Given the description of an element on the screen output the (x, y) to click on. 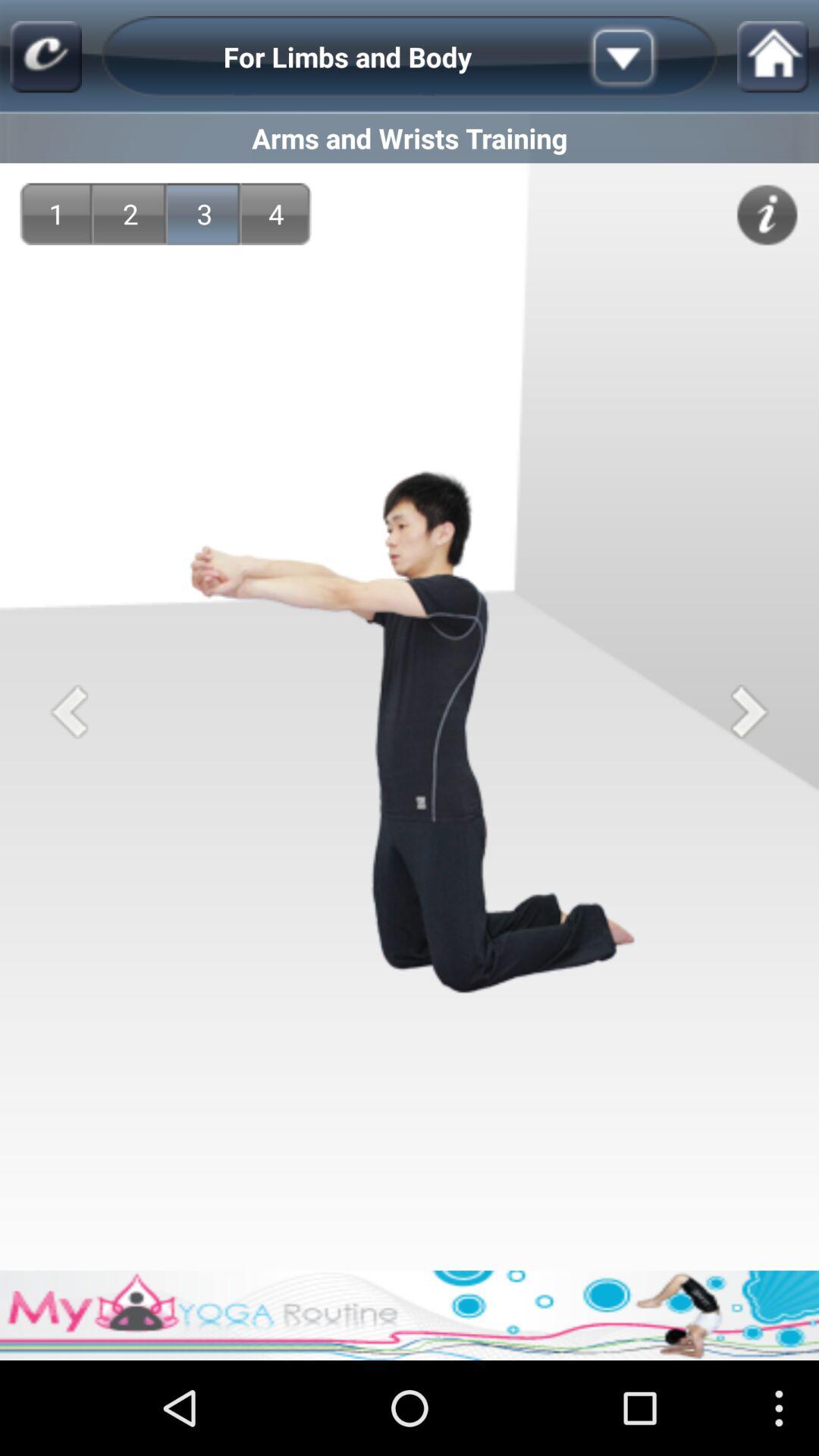
select icon to the right of the for limbs and item (646, 56)
